Given the description of an element on the screen output the (x, y) to click on. 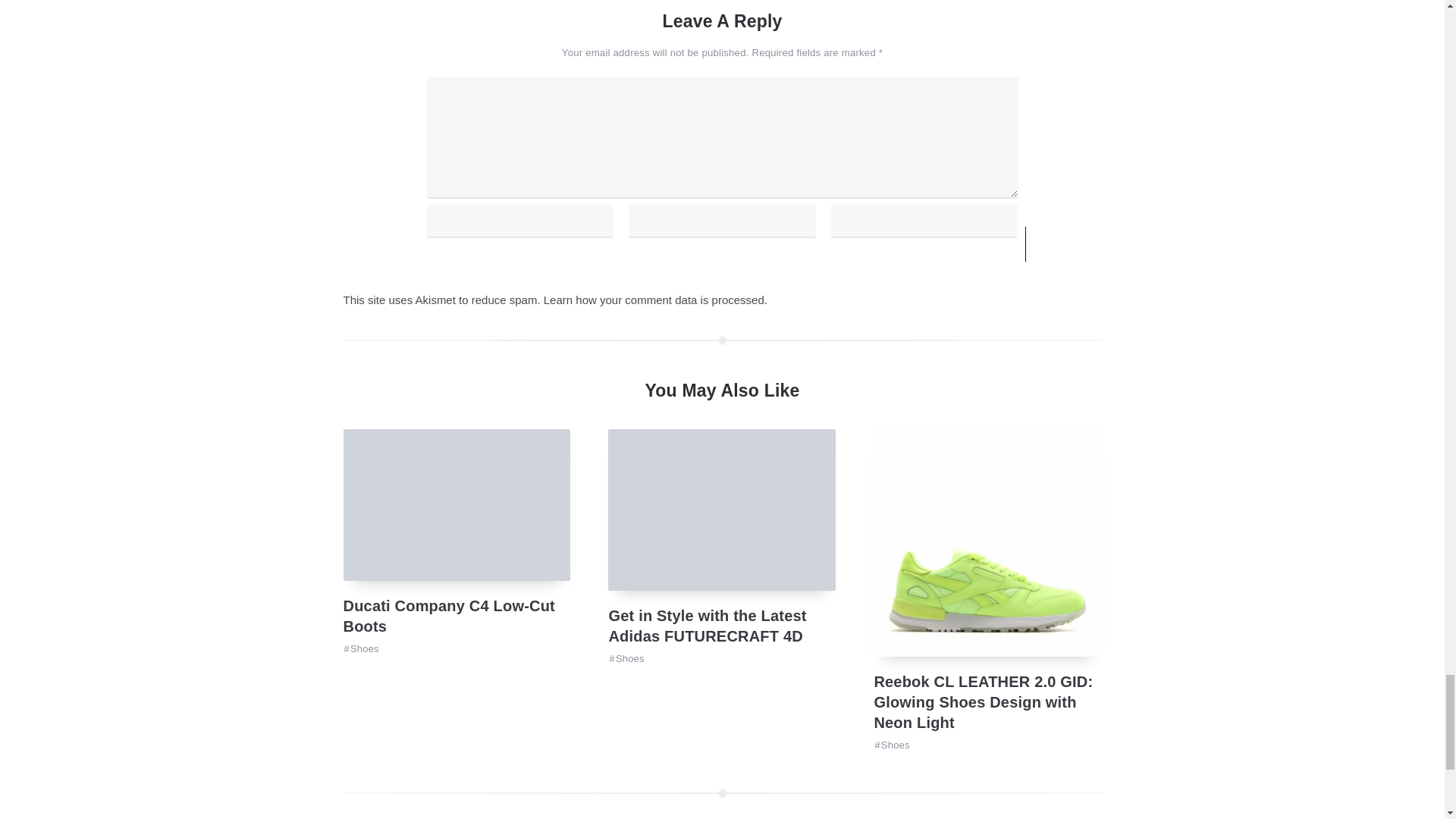
Post comment (1089, 244)
Learn how your comment data is processed (653, 299)
Ducati Company C4 Low-Cut Boots (448, 615)
Post comment (1089, 244)
